Given the description of an element on the screen output the (x, y) to click on. 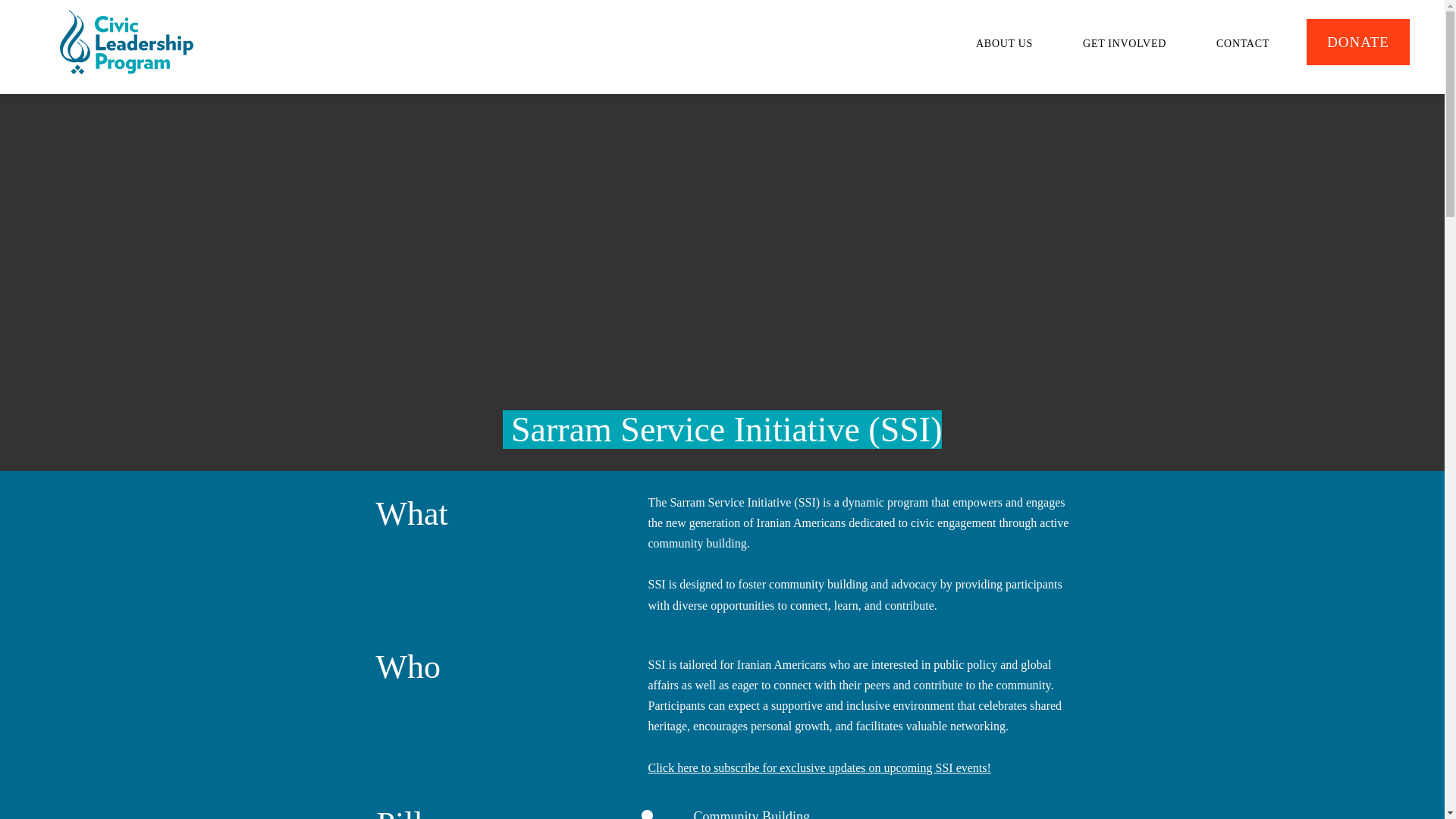
ABOUT US (1003, 43)
DONATE (1122, 43)
CONTACT (1357, 41)
